Given the description of an element on the screen output the (x, y) to click on. 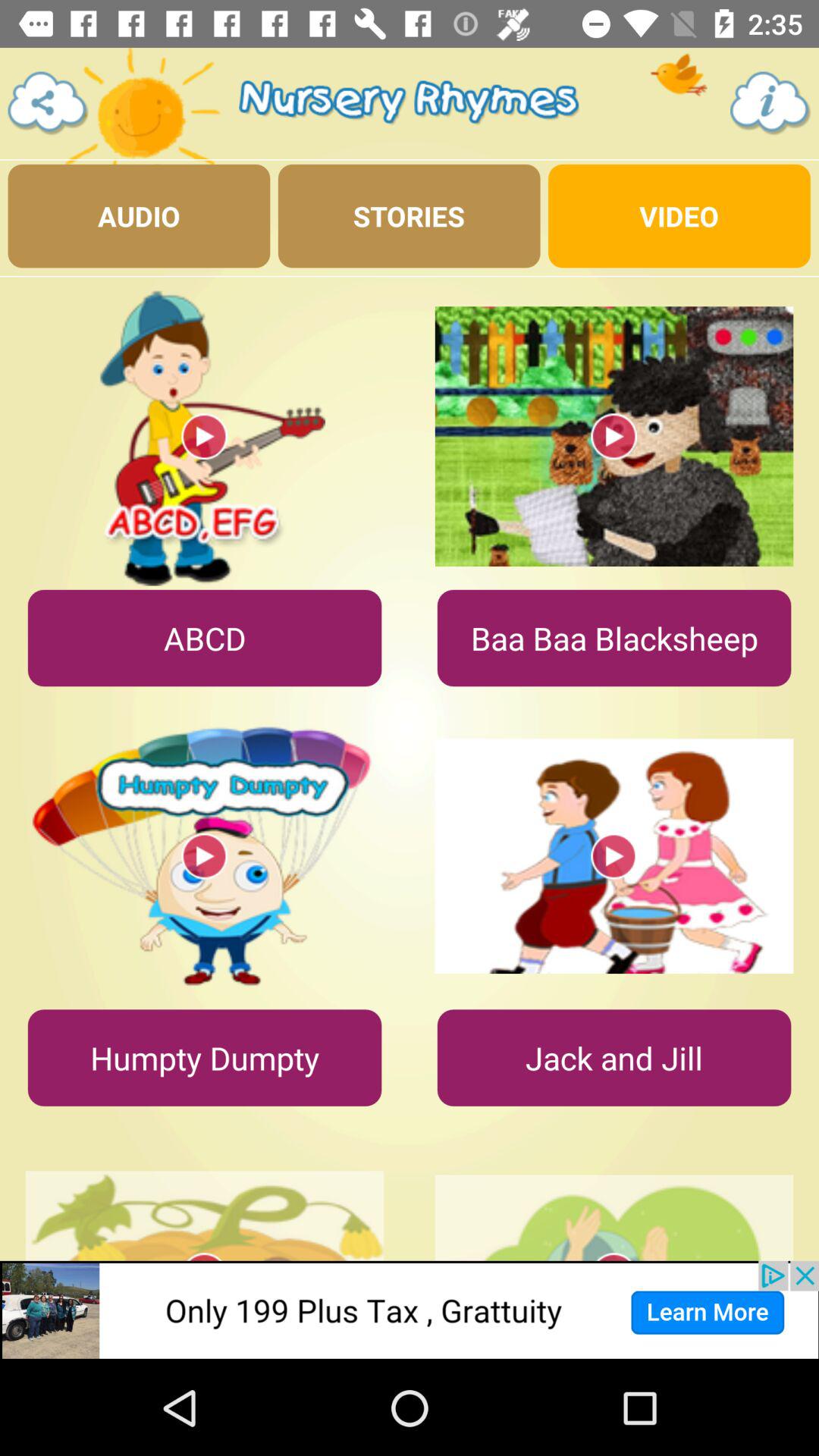
advertisement (409, 1310)
